Given the description of an element on the screen output the (x, y) to click on. 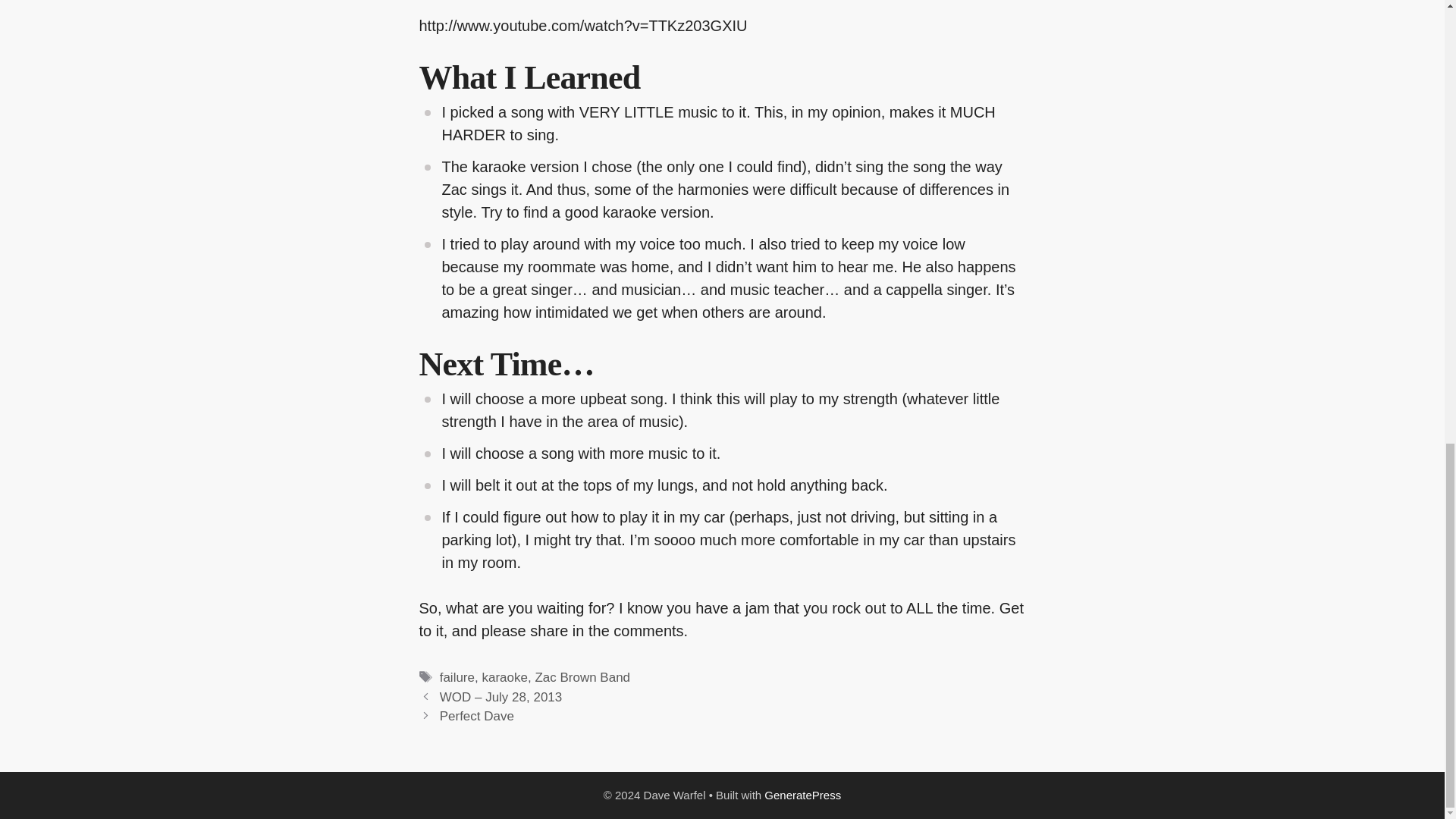
GeneratePress (802, 794)
failure (456, 677)
Zac Brown Band (582, 677)
karaoke (504, 677)
Perfect Dave (476, 716)
